Given the description of an element on the screen output the (x, y) to click on. 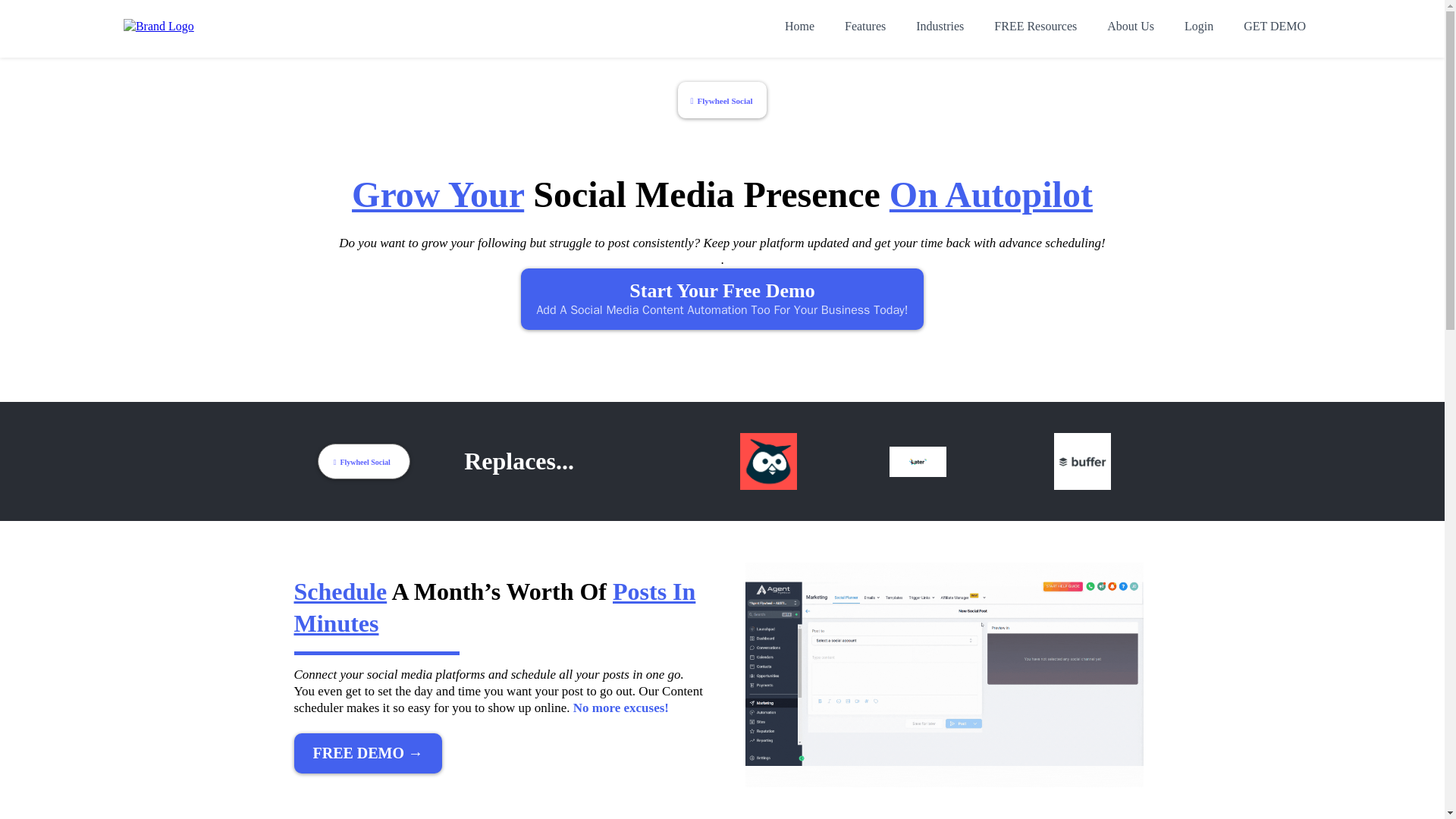
About Us (1130, 26)
Industries (939, 26)
FREE Resources (1035, 26)
GET DEMO (1274, 26)
Features (865, 26)
Login (1198, 26)
Home (799, 26)
